Given the description of an element on the screen output the (x, y) to click on. 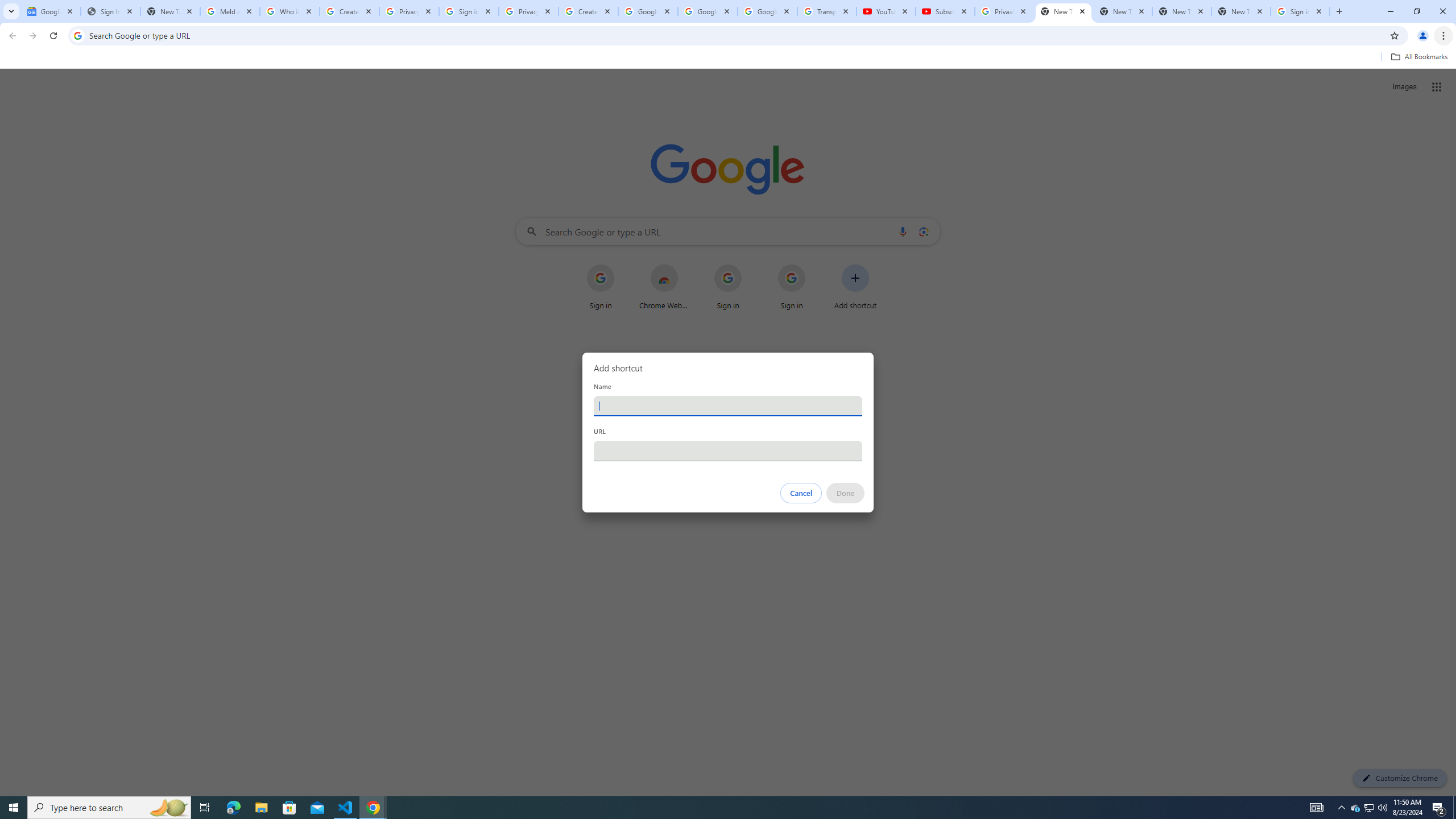
URL (727, 450)
YouTube (885, 11)
New Tab (1063, 11)
Google Account (767, 11)
